Given the description of an element on the screen output the (x, y) to click on. 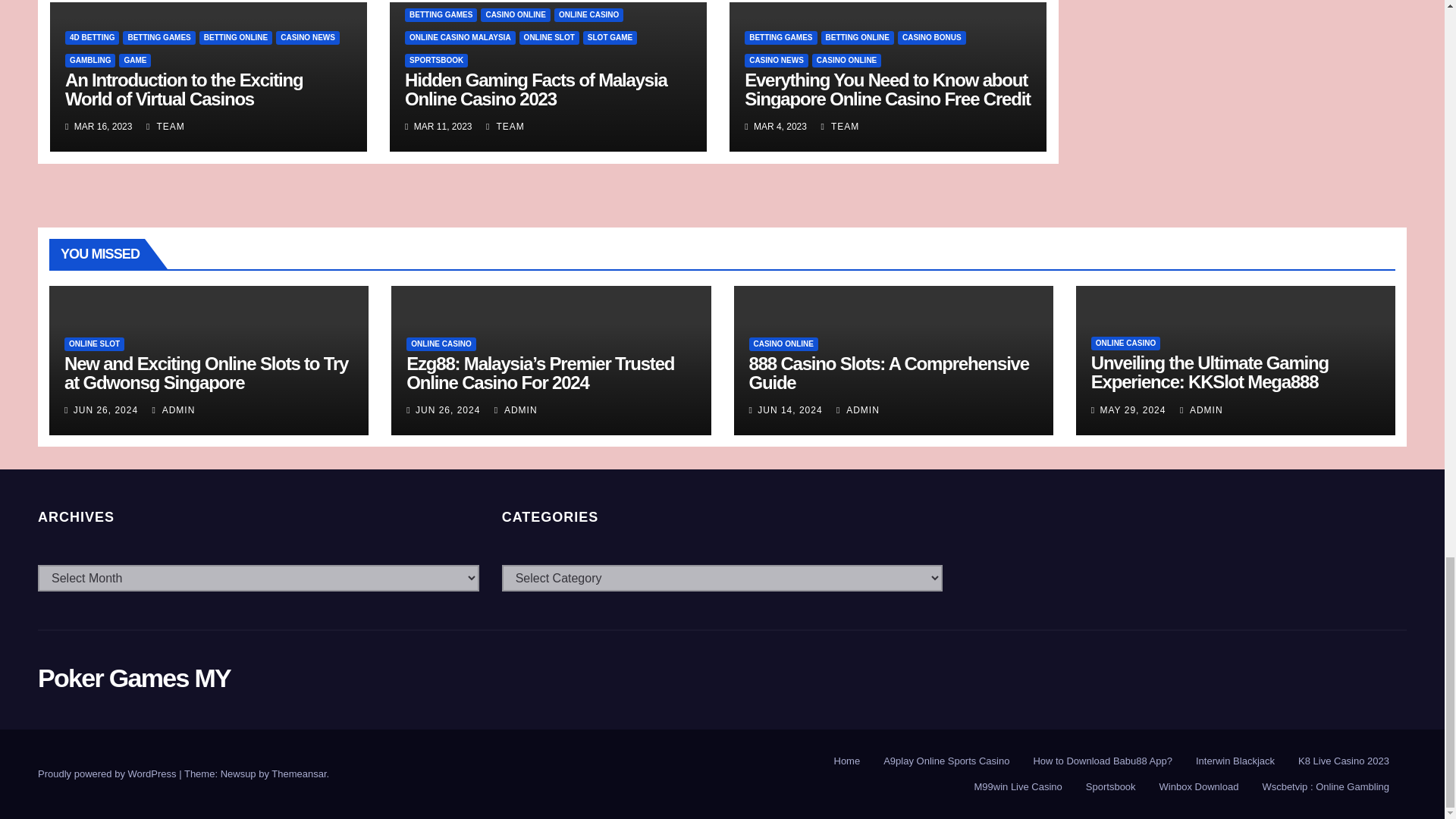
BETTING GAMES (158, 38)
Home (847, 760)
BETTING ONLINE (235, 38)
Permalink to: 888 Casino Slots: A Comprehensive Guide (889, 372)
An Introduction to the Exciting World of Virtual Casinos (183, 88)
4D BETTING (92, 38)
